Given the description of an element on the screen output the (x, y) to click on. 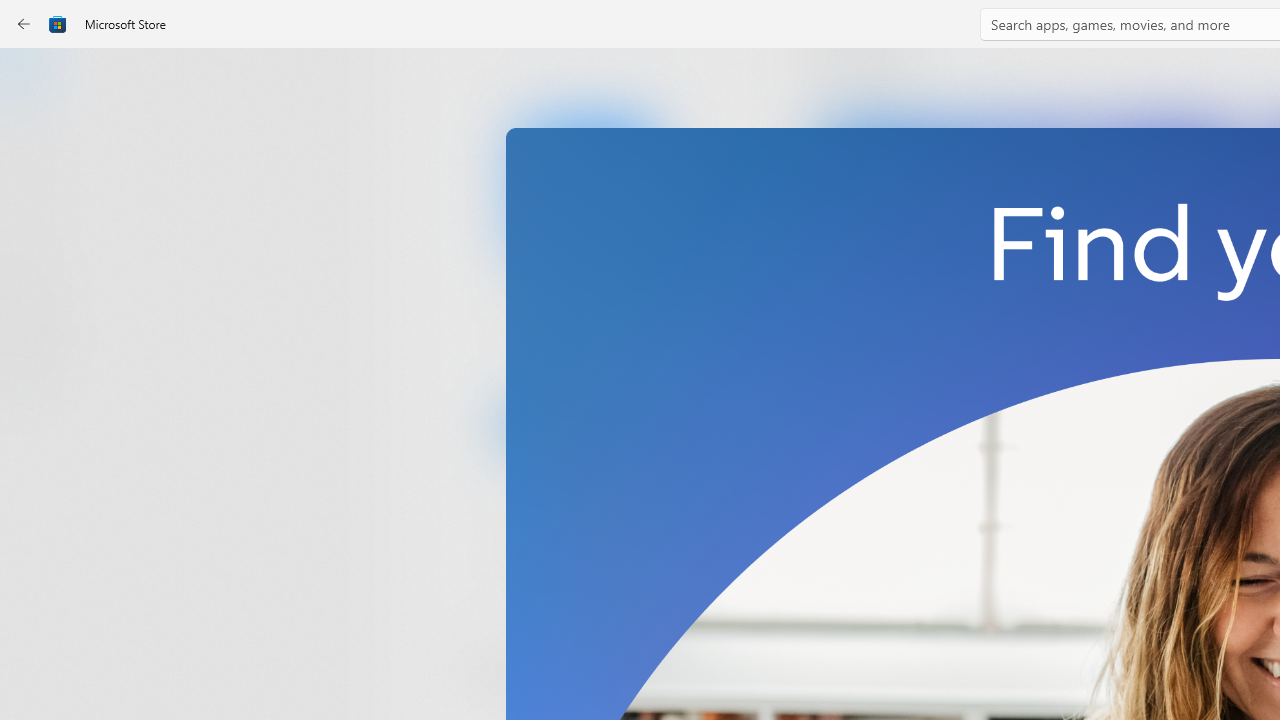
Screenshot 1 (1029, 279)
3.9 stars. Click to skip to ratings and reviews (542, 556)
LinkedIn (585, 333)
Get (586, 424)
Back (24, 24)
